Given the description of an element on the screen output the (x, y) to click on. 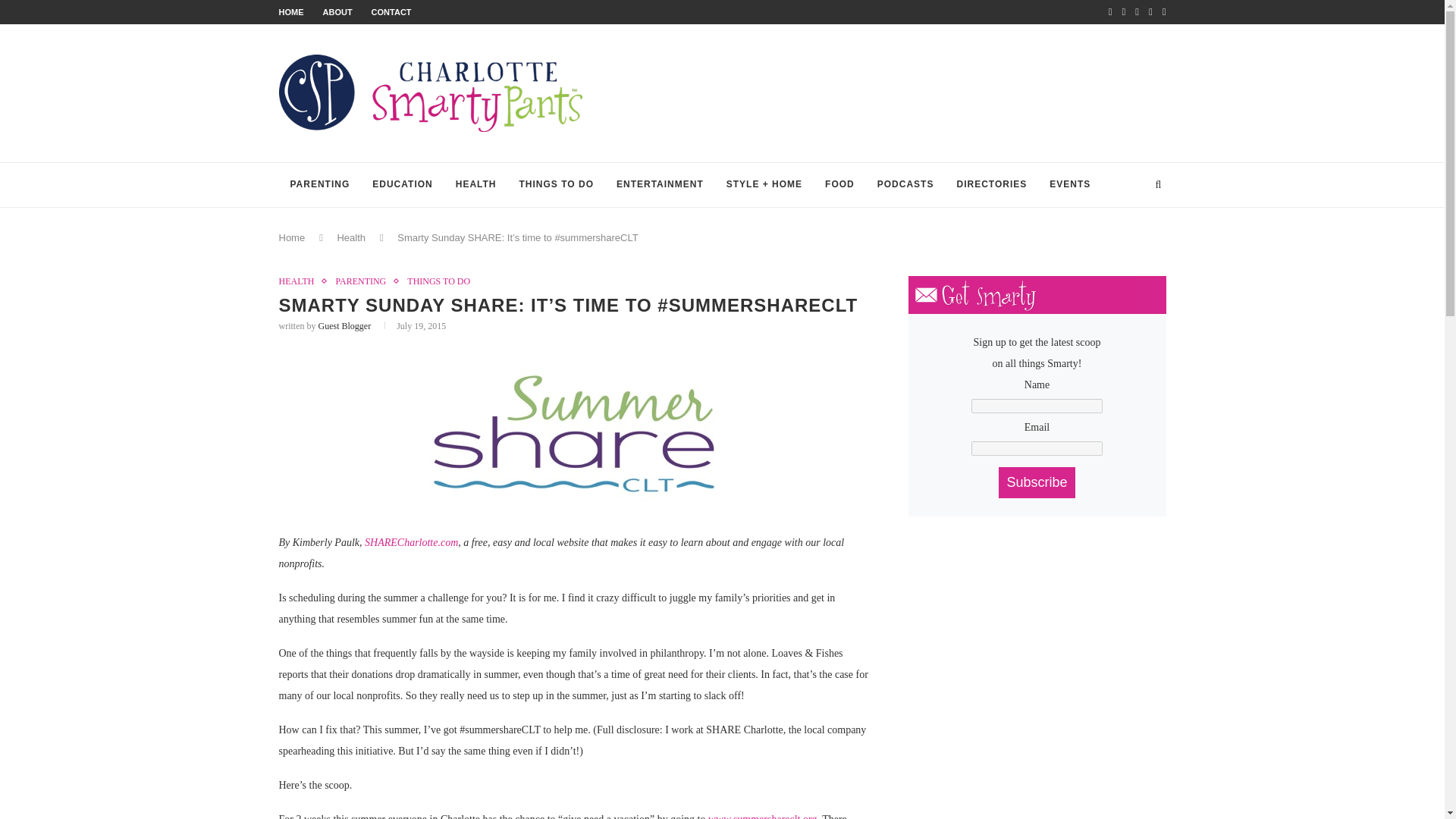
Guest Blogger (344, 326)
THINGS TO DO (438, 281)
PARENTING (320, 185)
EDUCATION (402, 185)
HEALTH (476, 185)
Home (292, 237)
FOOD (839, 185)
HEALTH (300, 281)
ABOUT (337, 11)
THINGS TO DO (556, 185)
